Given the description of an element on the screen output the (x, y) to click on. 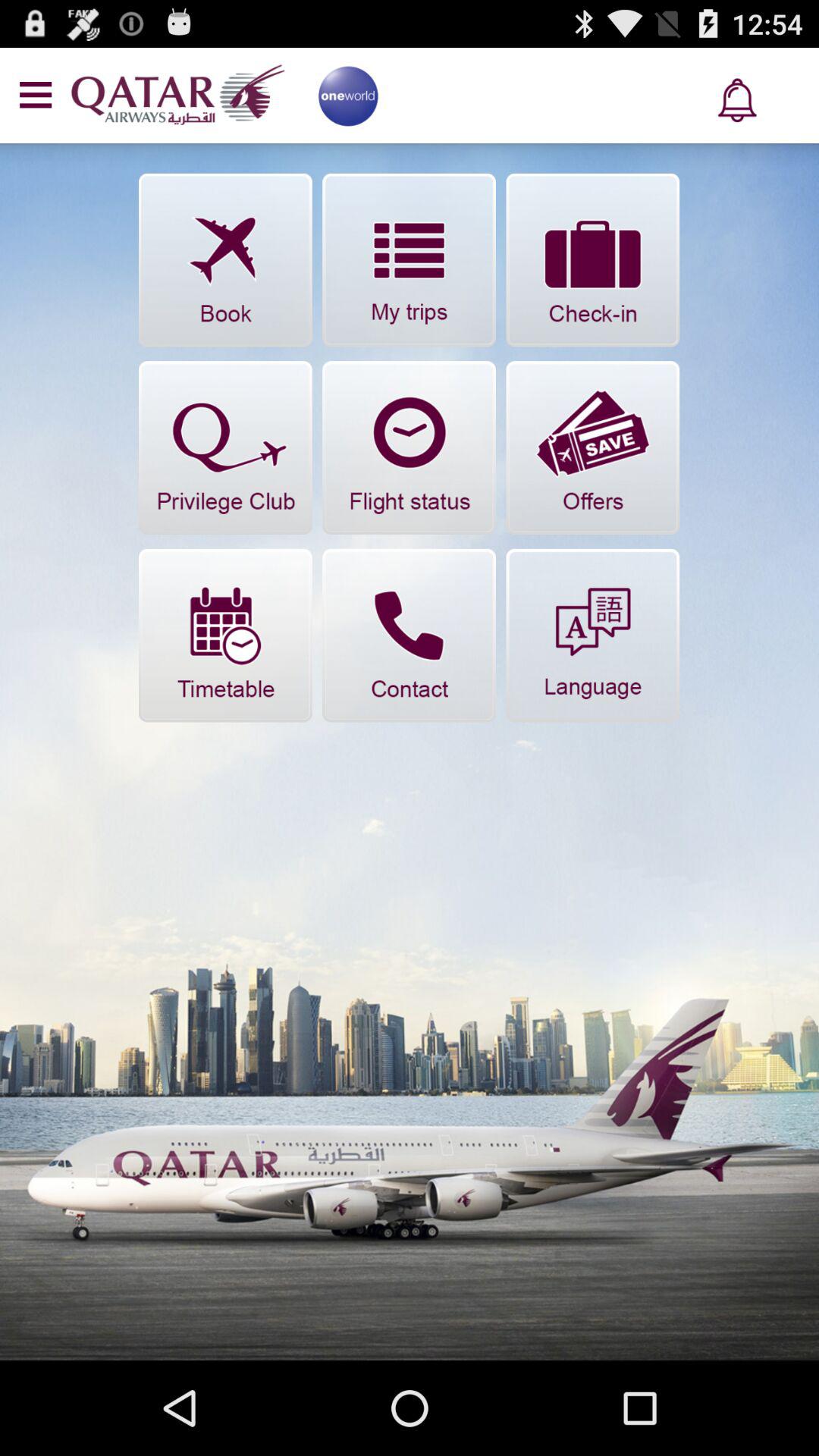
view offers (592, 447)
